Given the description of an element on the screen output the (x, y) to click on. 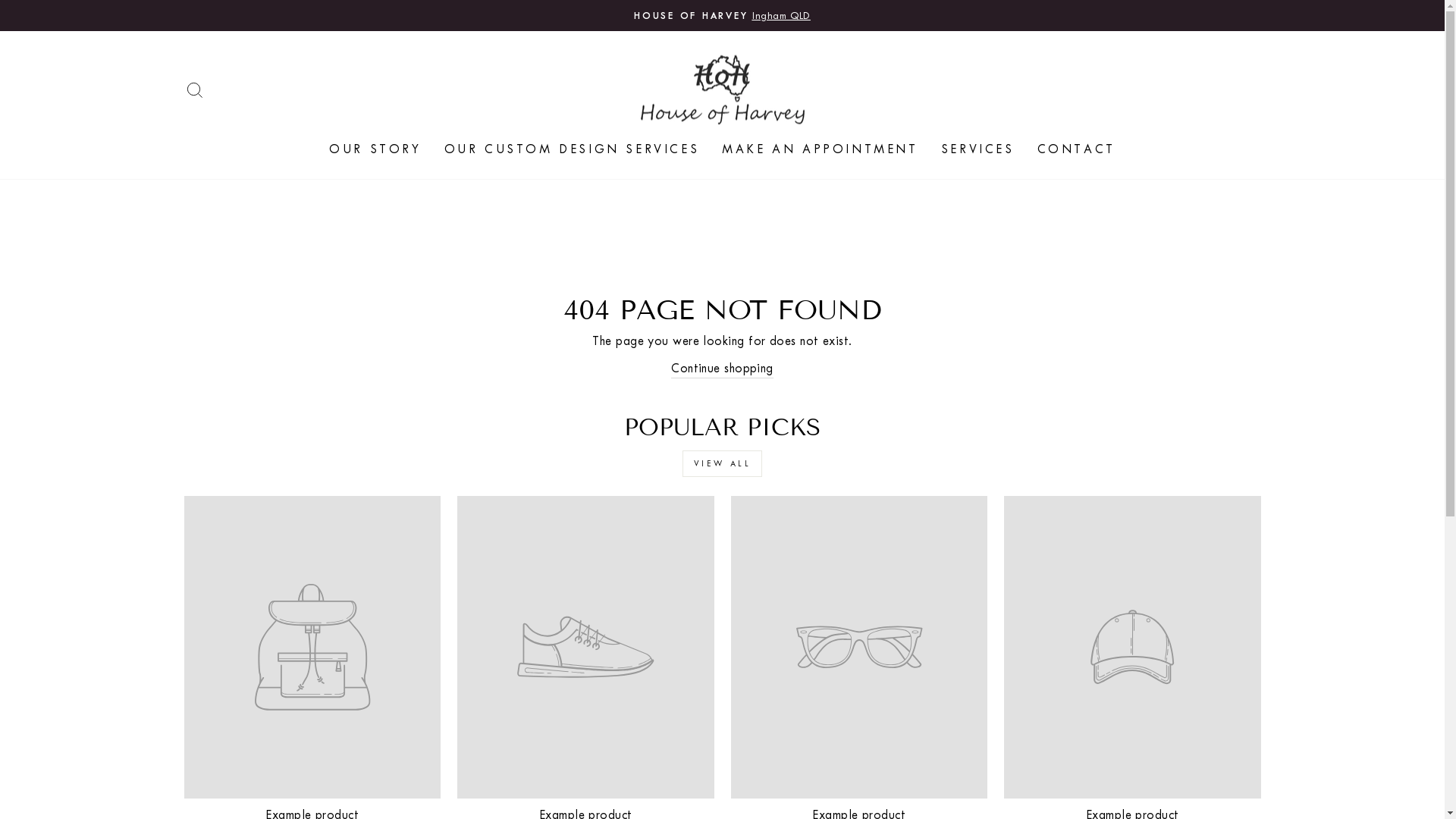
CONTACT Element type: text (1076, 148)
SEARCH Element type: text (193, 89)
Continue shopping Element type: text (722, 368)
OUR CUSTOM DESIGN SERVICES Element type: text (572, 148)
OUR STORY Element type: text (374, 148)
HOUSE OF HARVEYIngham QLD Element type: text (722, 15)
SERVICES Element type: text (977, 148)
VIEW ALL Element type: text (722, 463)
MAKE AN APPOINTMENT Element type: text (819, 148)
Skip to content Element type: text (0, 0)
